Given the description of an element on the screen output the (x, y) to click on. 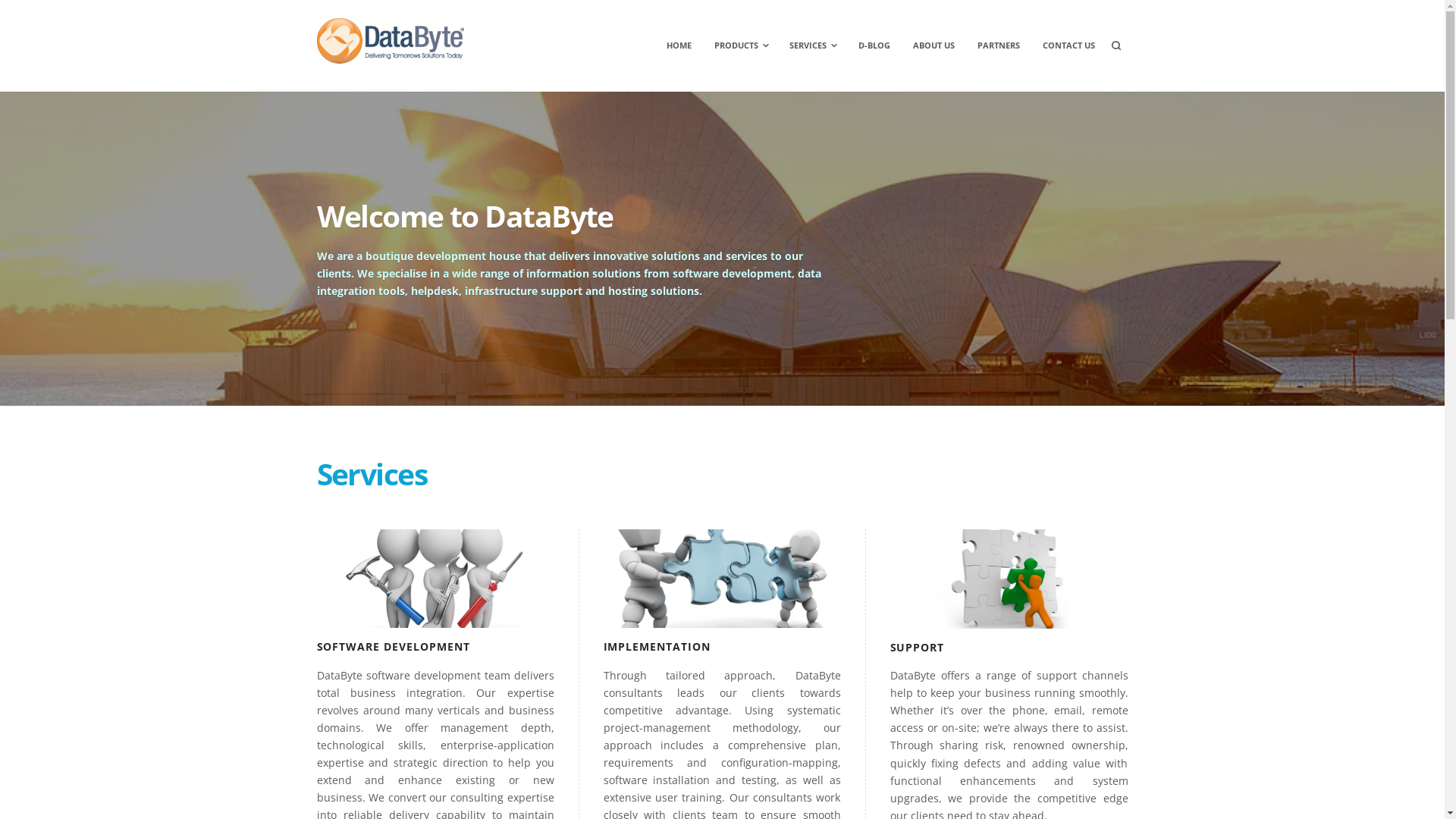
PRODUCTS Element type: text (740, 45)
SUPPORT Element type: text (917, 647)
Services Element type: text (371, 473)
IMPLEMENTATION Element type: text (657, 646)
CONTACT US Element type: text (1067, 45)
HOME Element type: text (678, 45)
PARTNERS Element type: text (997, 45)
SERVICES Element type: text (812, 45)
D-BLOG Element type: text (874, 45)
ABOUT US Element type: text (933, 45)
SOFTWARE DEVELOPMENT Element type: text (393, 646)
OPEN A SEARCH BOX Element type: text (1115, 45)
